Given the description of an element on the screen output the (x, y) to click on. 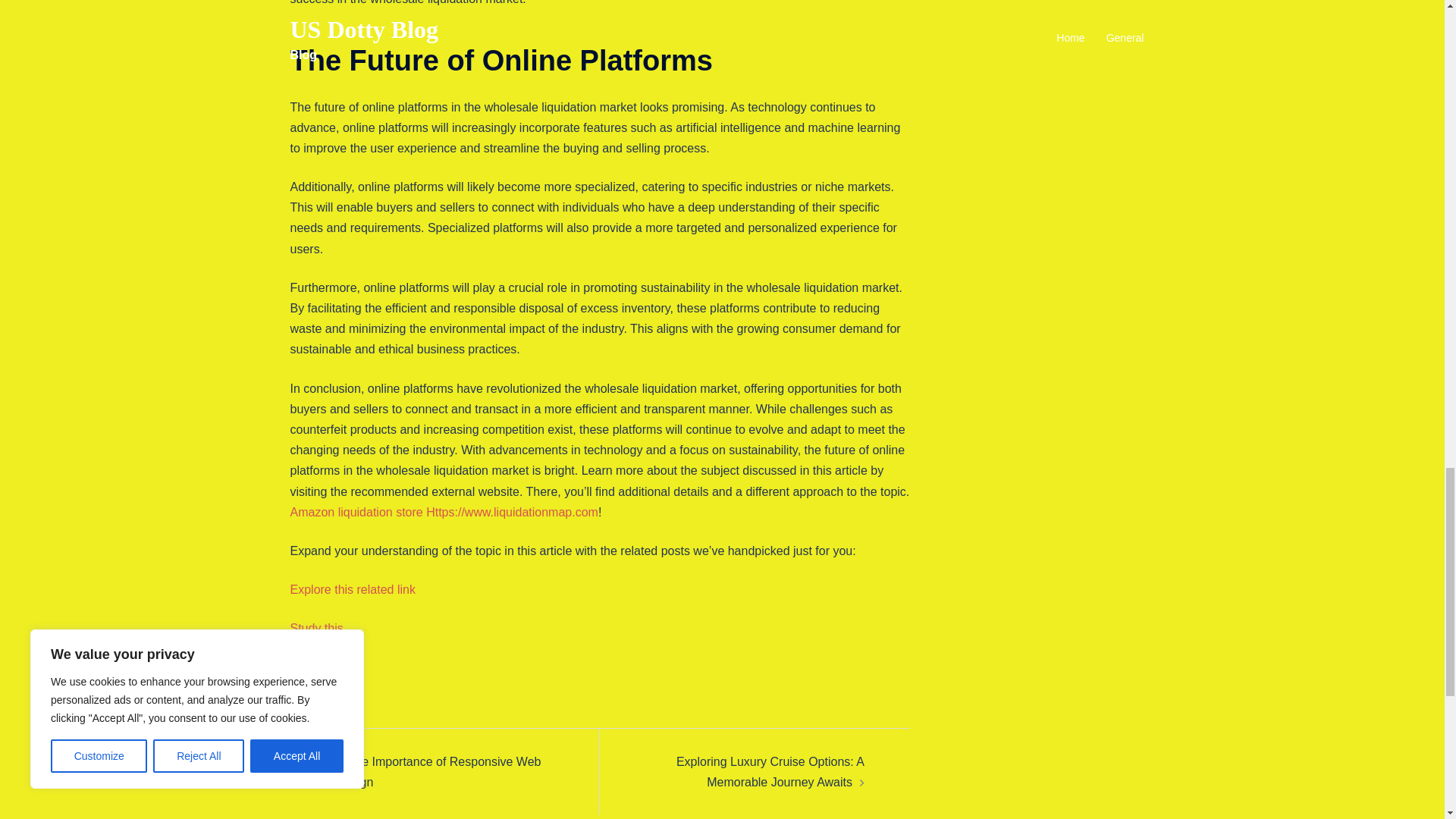
Exploring Luxury Cruise Options: A Memorable Journey Awaits (770, 771)
Study this (315, 627)
Explore this related link (351, 589)
The Importance of Responsive Web Design (437, 771)
